Given the description of an element on the screen output the (x, y) to click on. 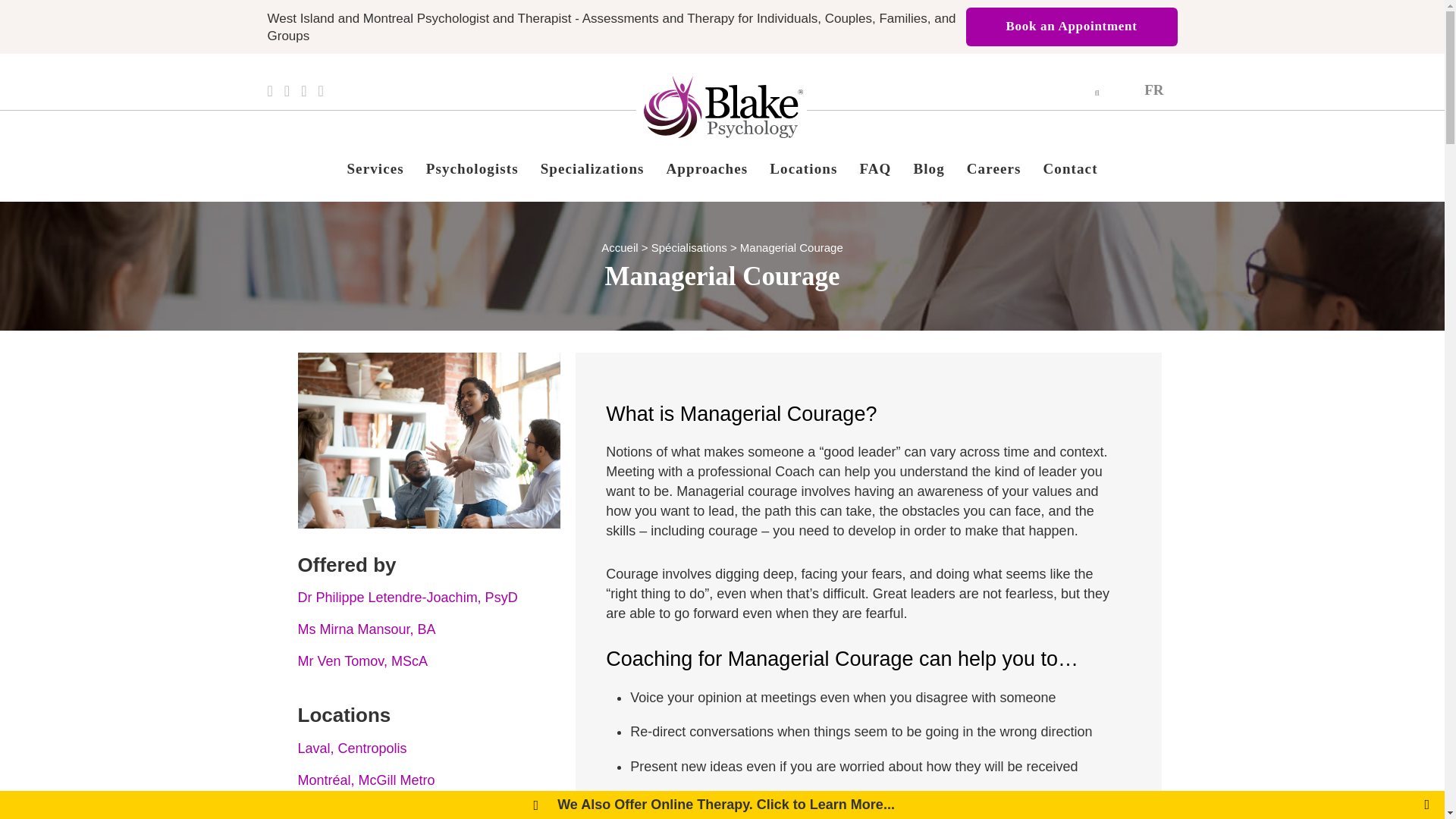
Locations (802, 168)
Blog (928, 168)
Psychologists (471, 168)
Book an Appointment (1071, 26)
Contact (1070, 168)
logo-english (723, 107)
Services (374, 168)
Careers (994, 168)
FR (1153, 88)
managerial-courage (428, 439)
FAQ (874, 168)
Blake Psychology Blog (928, 168)
Approaches (707, 168)
Specializations (592, 168)
Contact Blake Psychology (1070, 168)
